Given the description of an element on the screen output the (x, y) to click on. 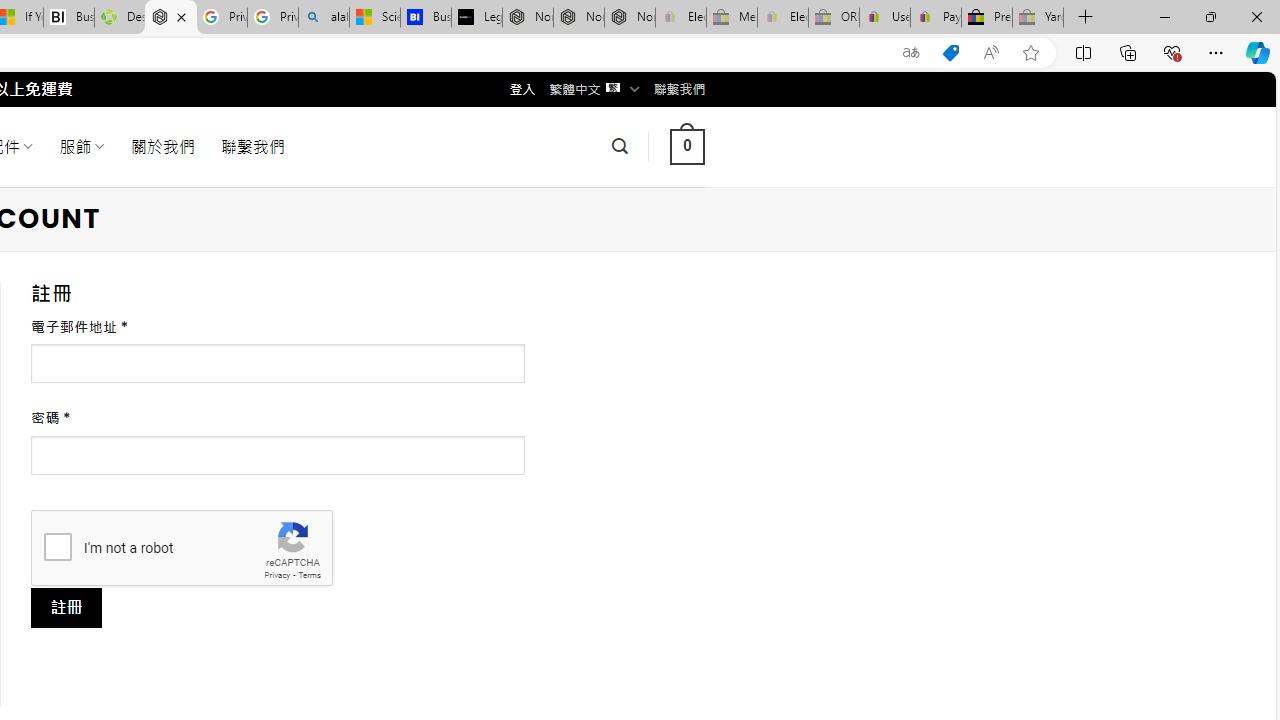
Descarga Driver Updater (119, 17)
Nordace - My Account (170, 17)
I'm not a robot (57, 546)
